Given the description of an element on the screen output the (x, y) to click on. 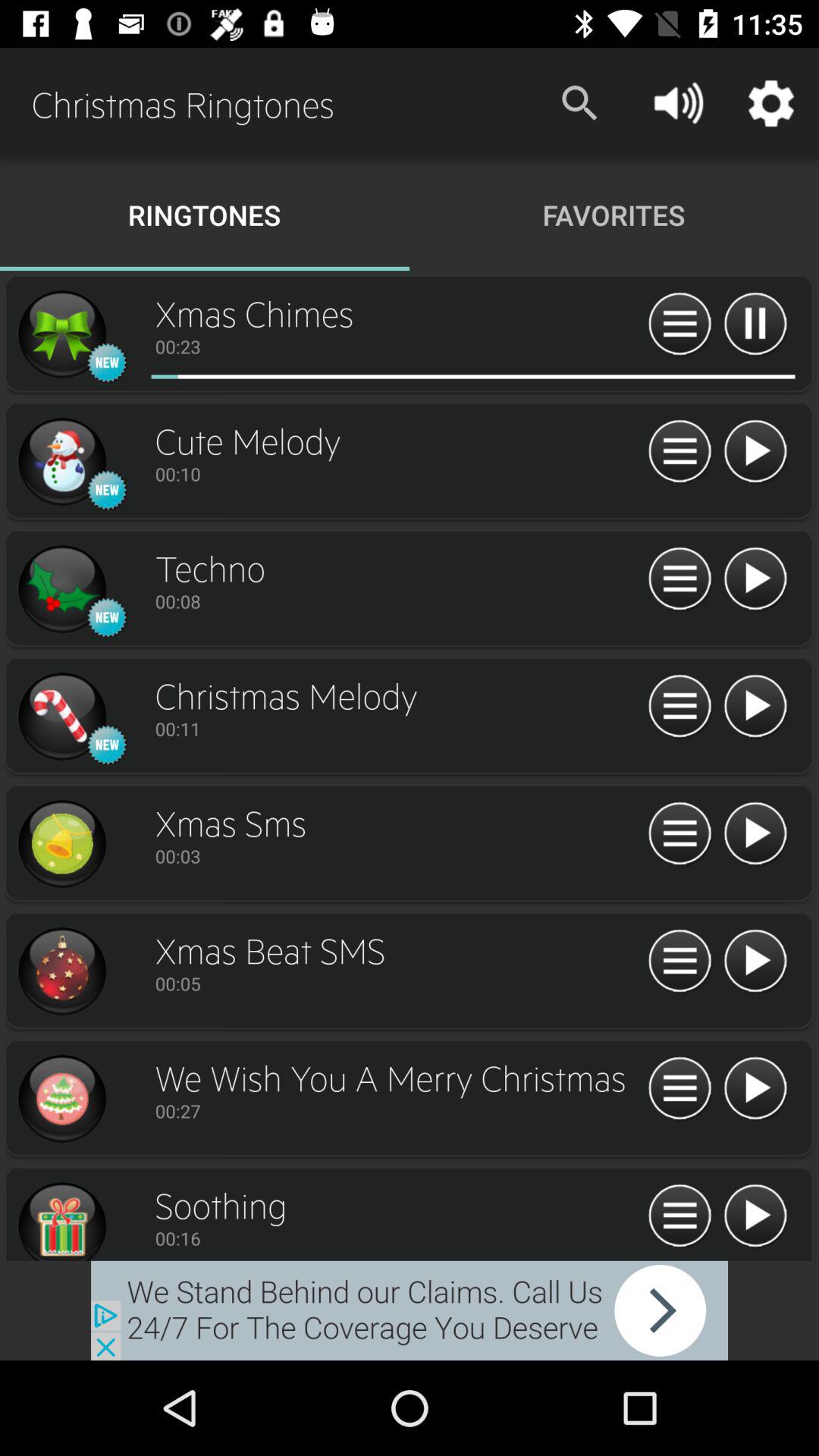
play button (755, 451)
